Given the description of an element on the screen output the (x, y) to click on. 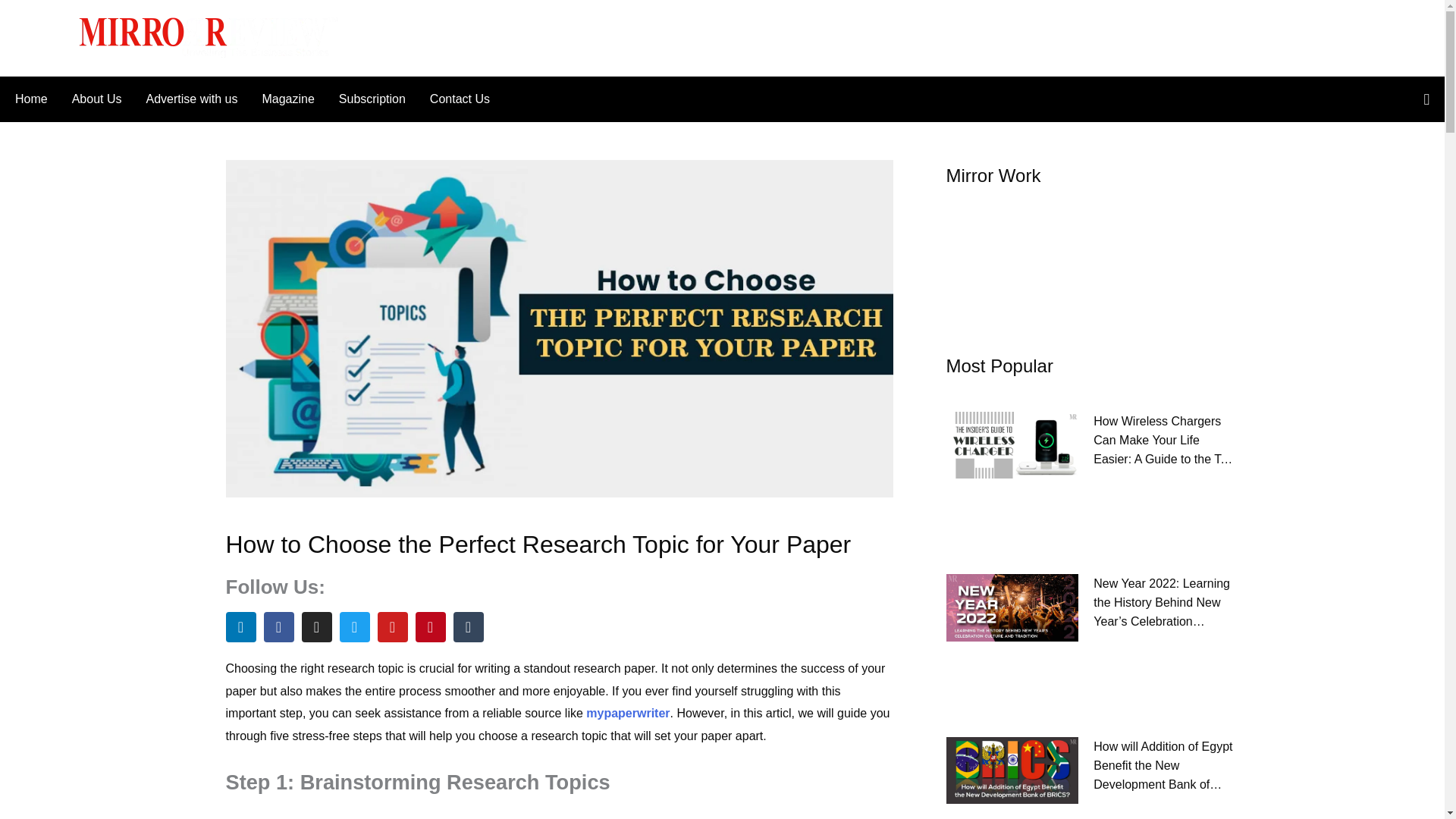
Magazine (287, 99)
Linkedin (240, 626)
Main Menu (43, 37)
Most Popular (999, 365)
Pinterest (429, 626)
Youtube (392, 626)
Contact Us (453, 99)
About Us (96, 99)
Instagram (316, 626)
